Given the description of an element on the screen output the (x, y) to click on. 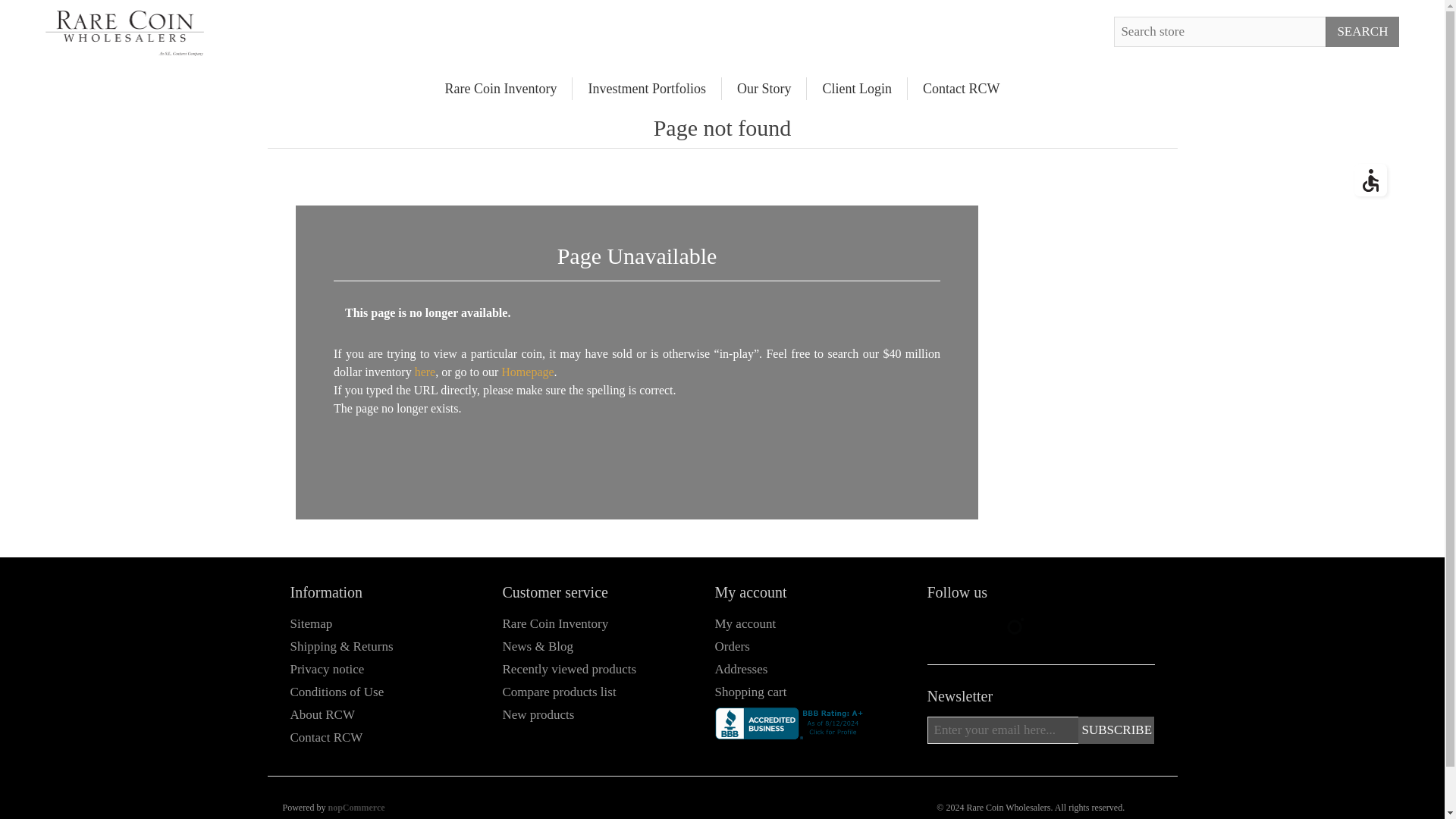
Search (1361, 31)
Subscribe (1116, 729)
Search (1361, 31)
Search (1361, 31)
Rare Coin Wholesalers (125, 33)
Rare Coin Inventory (500, 87)
